Given the description of an element on the screen output the (x, y) to click on. 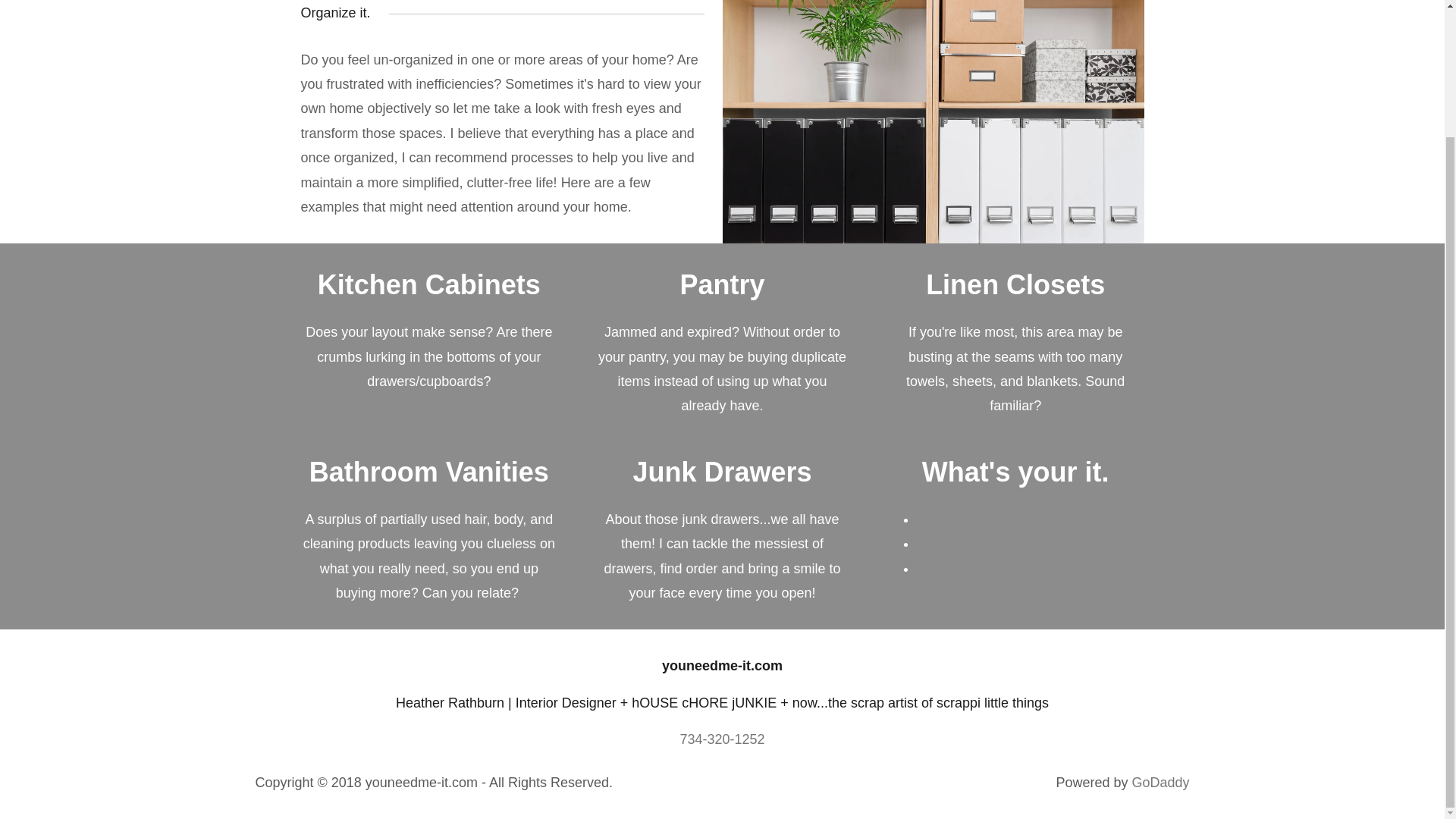
734-320-1252 (721, 739)
GoDaddy (1160, 782)
